Given the description of an element on the screen output the (x, y) to click on. 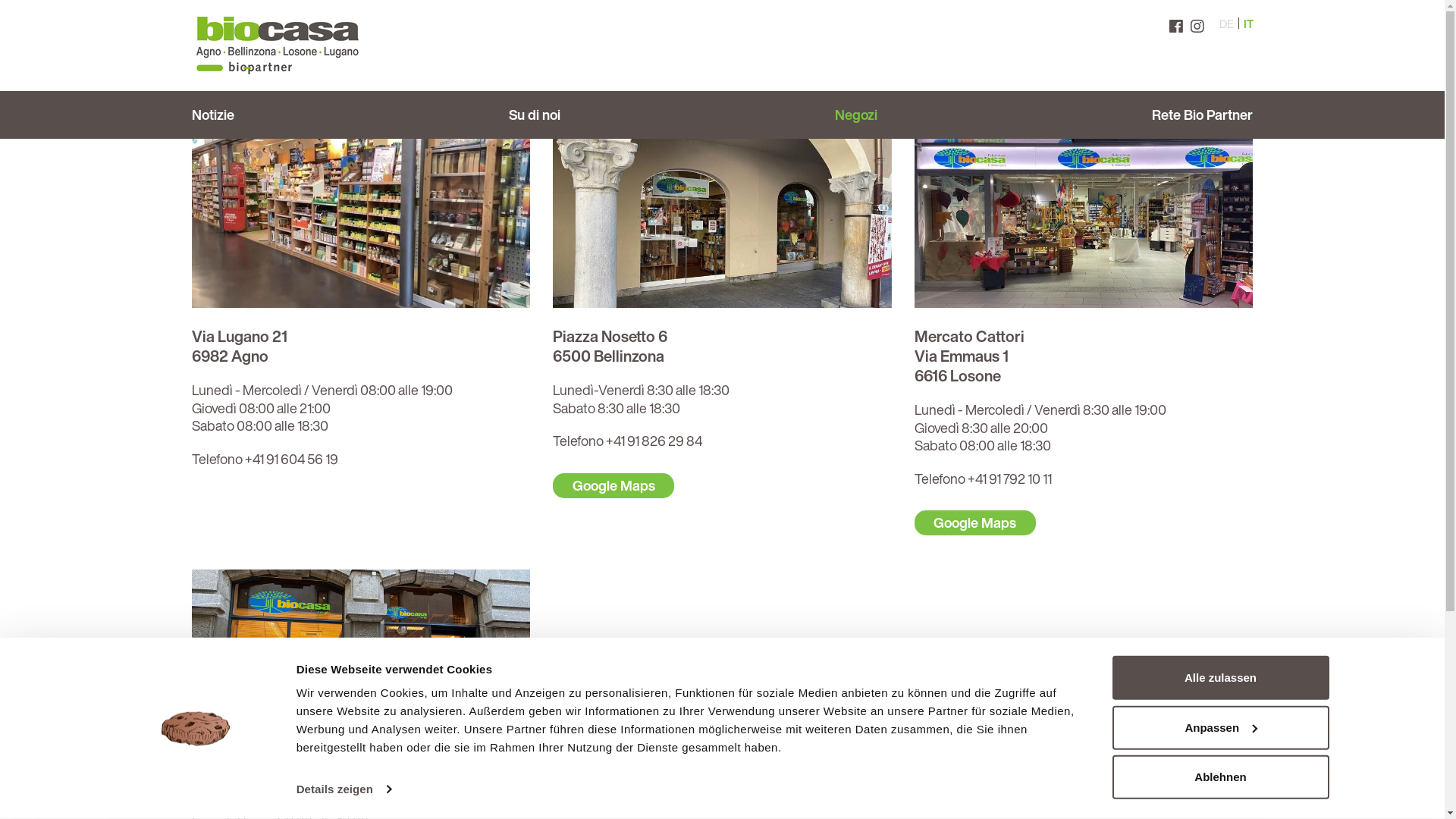
Instagram Element type: hover (1196, 27)
Biocasa Lugano 2 Element type: hover (360, 663)
Negozi Element type: text (855, 114)
Facebook Element type: hover (1175, 27)
Details zeigen Element type: text (343, 789)
Anpassen Element type: text (1219, 727)
Ablehnen Element type: text (1219, 777)
Google Maps Element type: text (613, 485)
Bellinzona Sept 2021 2 Element type: hover (721, 232)
Losone Sept 2021 3 Element type: hover (1083, 232)
Alle zulassen Element type: text (1219, 677)
DE Element type: text (1226, 24)
Bio Casa - Ticino Element type: hover (276, 45)
Rete Bio Partner Element type: text (1198, 114)
Su di noi Element type: text (534, 114)
Agno Sept 2021 2 Element type: hover (360, 232)
Notizie Element type: text (216, 114)
IT Element type: text (1248, 24)
Google Maps Element type: text (974, 522)
